Given the description of an element on the screen output the (x, y) to click on. 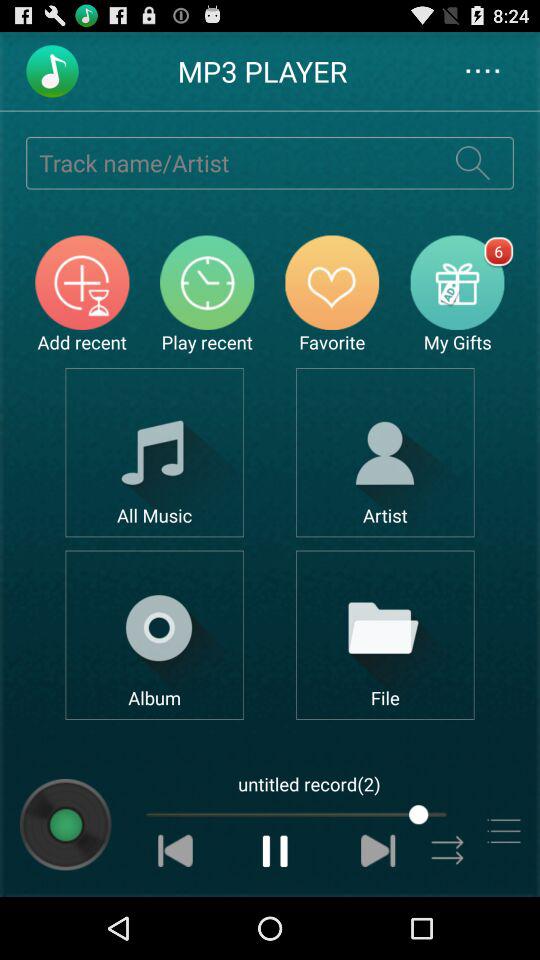
open from files (384, 634)
